Given the description of an element on the screen output the (x, y) to click on. 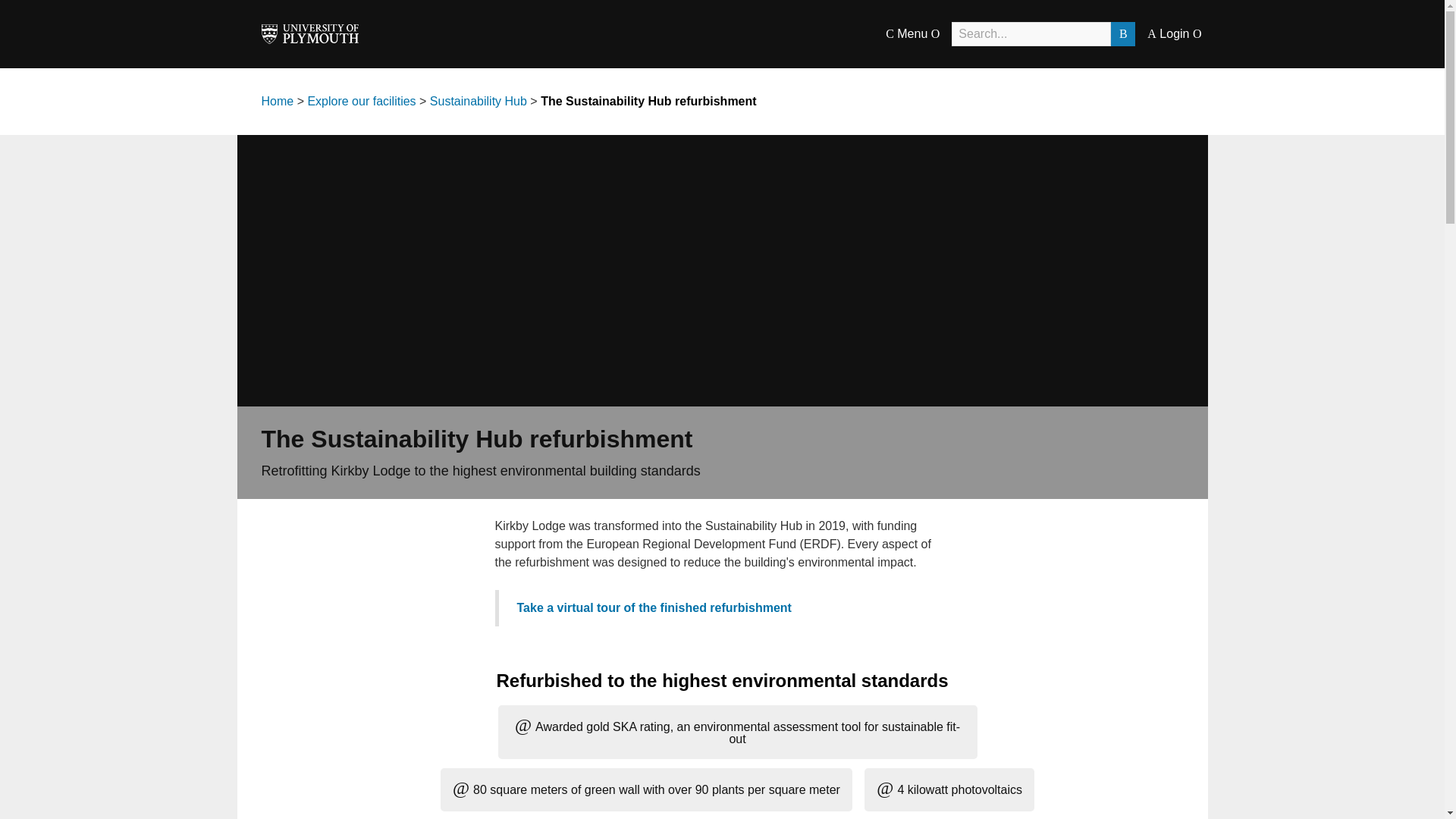
C Menu O (911, 33)
B (1122, 33)
A Login O (1174, 33)
